Given the description of an element on the screen output the (x, y) to click on. 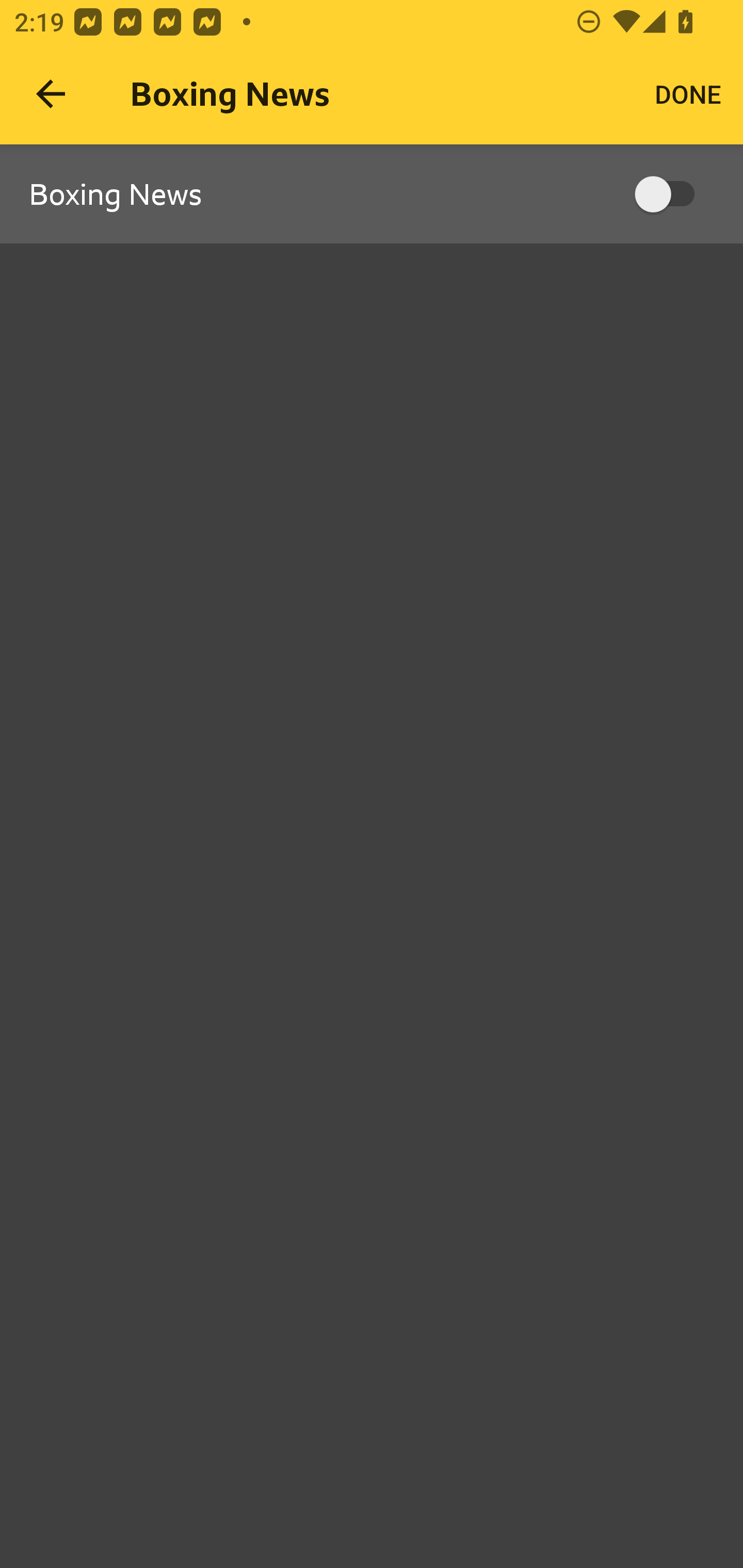
Navigate up (50, 93)
DONE (688, 93)
Boxing News, ON, Switch Boxing News (371, 195)
